Given the description of an element on the screen output the (x, y) to click on. 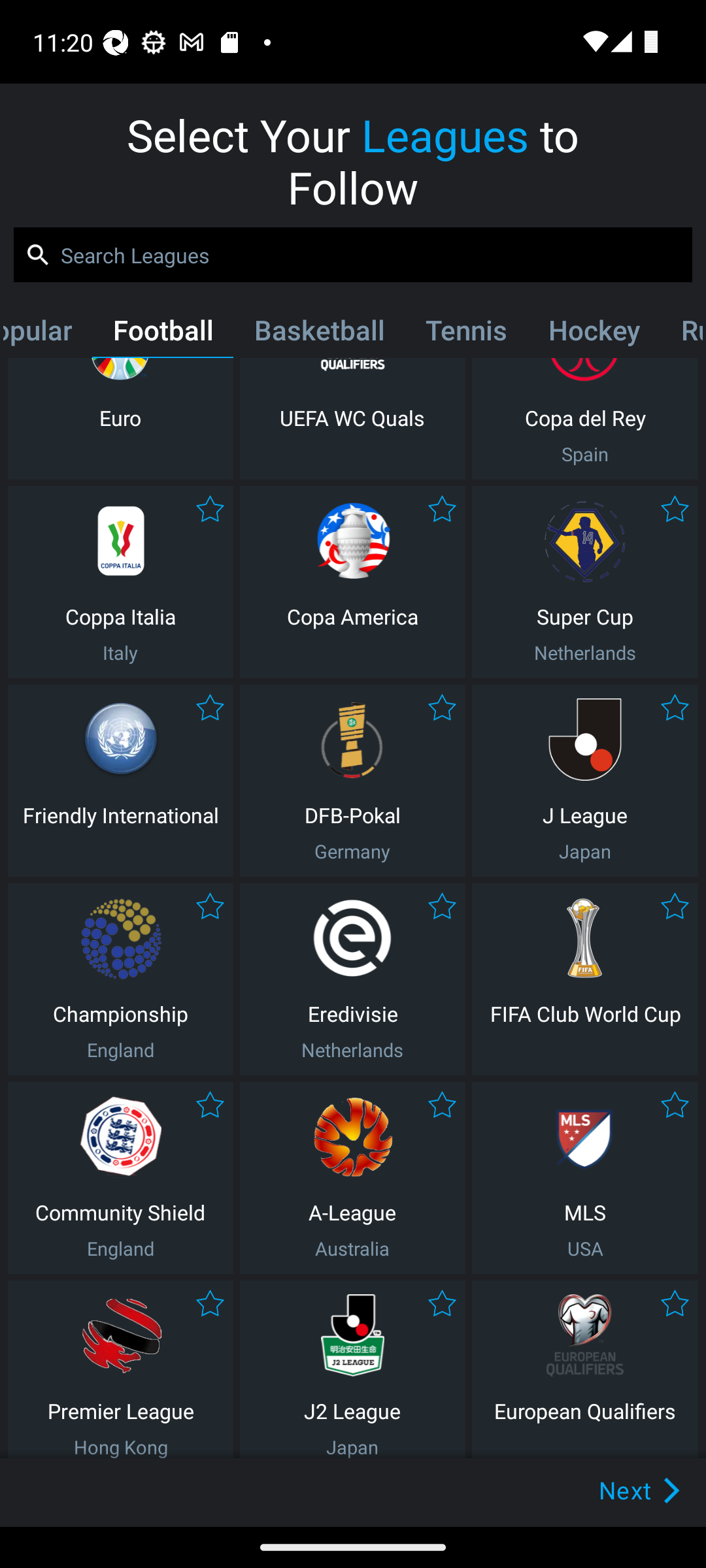
Search Leagues (352, 254)
Popular (47, 333)
Football (162, 333)
Basketball (318, 333)
Tennis (465, 333)
Hockey (593, 333)
Euro (120, 418)
UEFA WC Quals (352, 418)
Copa del Rey Spain (585, 418)
Coppa Italia Italy (120, 581)
Copa America (352, 581)
Super Cup Netherlands (585, 581)
Friendly International (120, 780)
DFB-Pokal Germany (352, 780)
J League Japan (585, 780)
Championship England (120, 978)
Eredivisie Netherlands (352, 978)
FIFA Club World Cup (585, 978)
Community Shield England (120, 1177)
A-League Australia (352, 1177)
MLS USA (585, 1177)
Premier League Hong Kong (120, 1369)
J2 League Japan (352, 1369)
European Qualifiers (585, 1369)
Next (609, 1489)
